Given the description of an element on the screen output the (x, y) to click on. 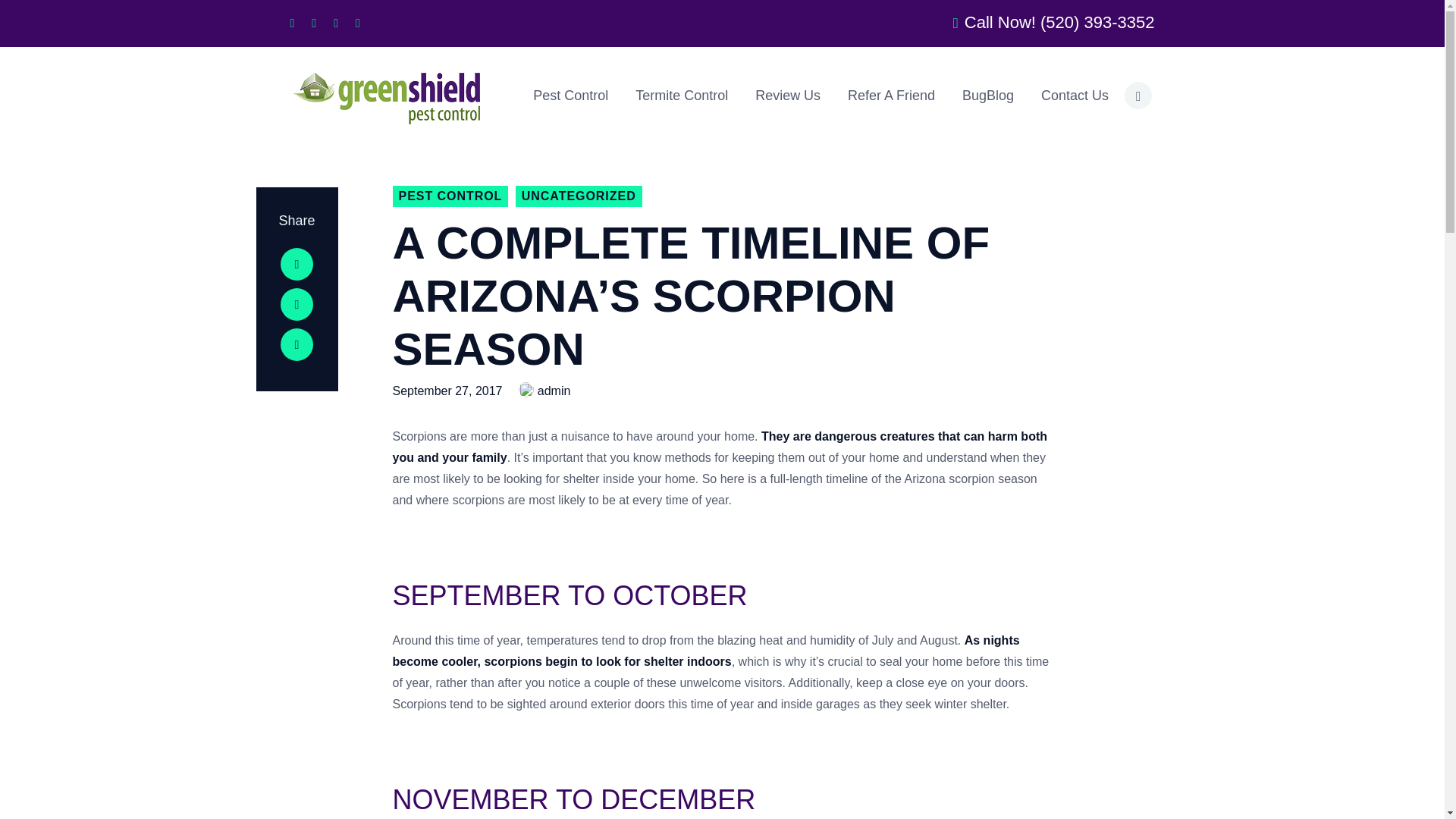
Termite Control (681, 95)
PEST CONTROL (450, 196)
Pest Control (570, 95)
Review Us (787, 95)
Contact Us (1074, 95)
Refer A Friend (891, 95)
UNCATEGORIZED (578, 196)
BugBlog (988, 95)
